Given the description of an element on the screen output the (x, y) to click on. 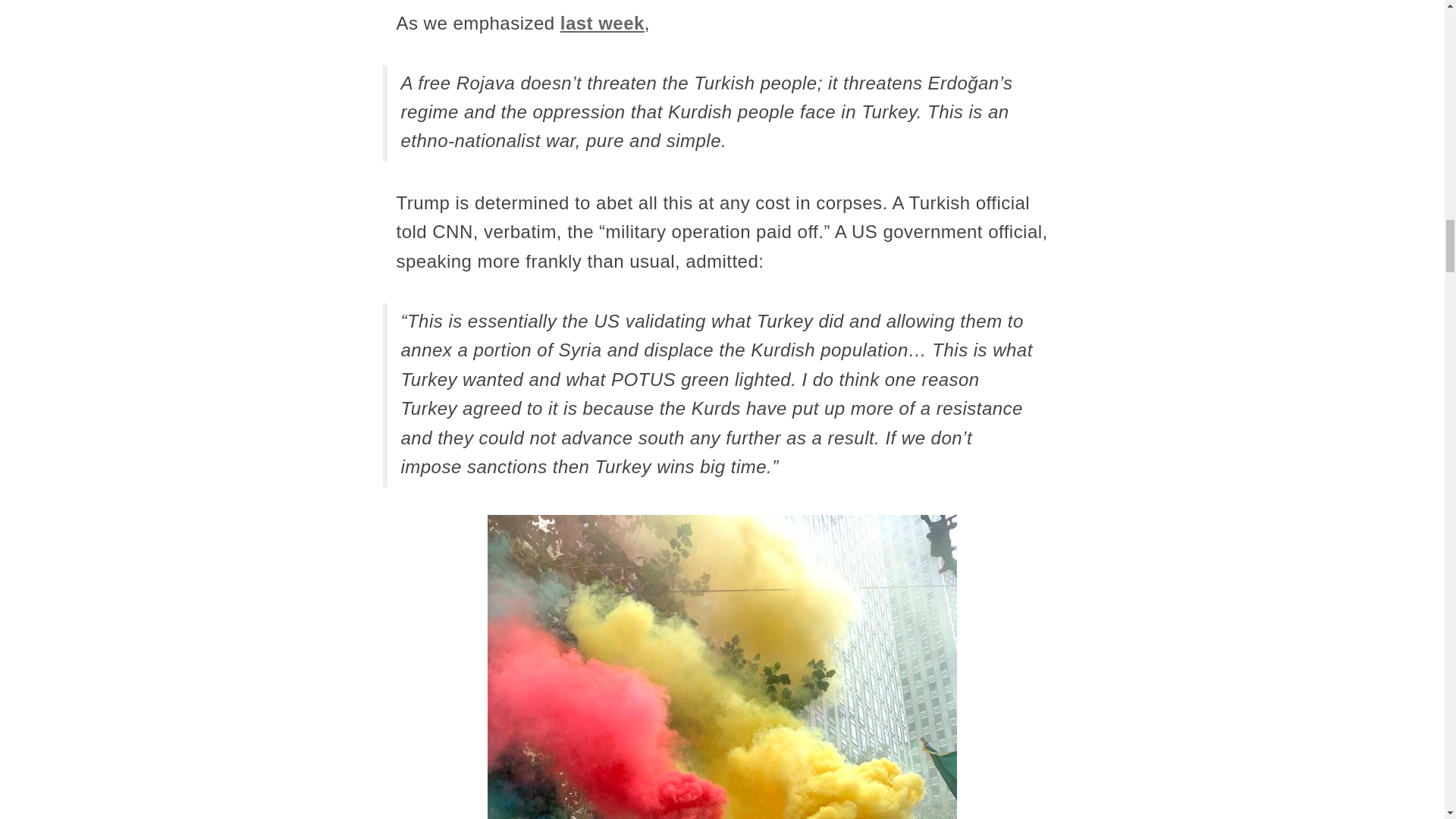
last week (602, 22)
